Given the description of an element on the screen output the (x, y) to click on. 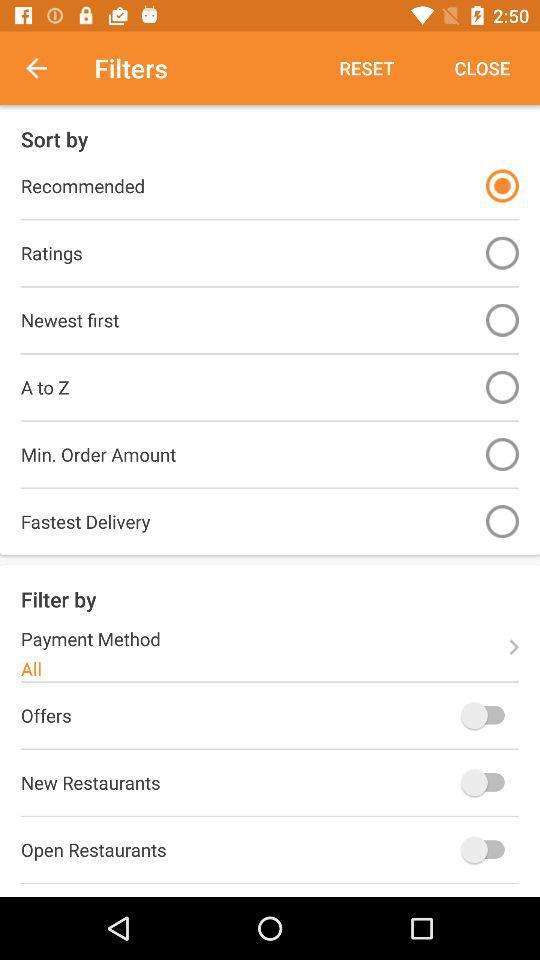
select newest first (502, 319)
